Given the description of an element on the screen output the (x, y) to click on. 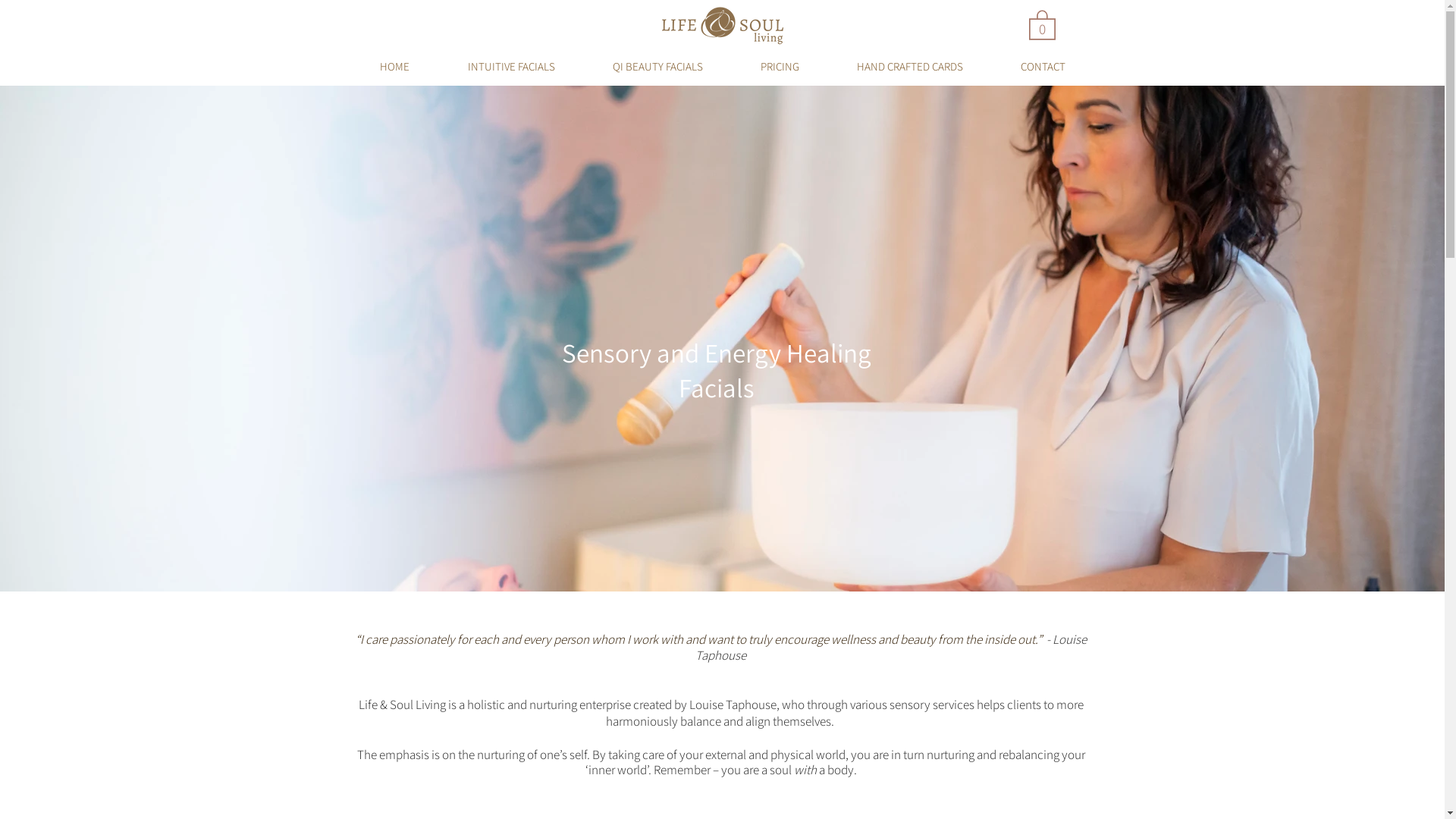
0 Element type: text (1041, 24)
HOME Element type: text (394, 66)
HAND CRAFTED CARDS Element type: text (909, 66)
PRICING Element type: text (779, 66)
QI BEAUTY FACIALS Element type: text (657, 66)
INTUITIVE FACIALS Element type: text (510, 66)
BROWN Logo TRANSPARENT.png Element type: hover (722, 25)
CONTACT Element type: text (1042, 66)
